Given the description of an element on the screen output the (x, y) to click on. 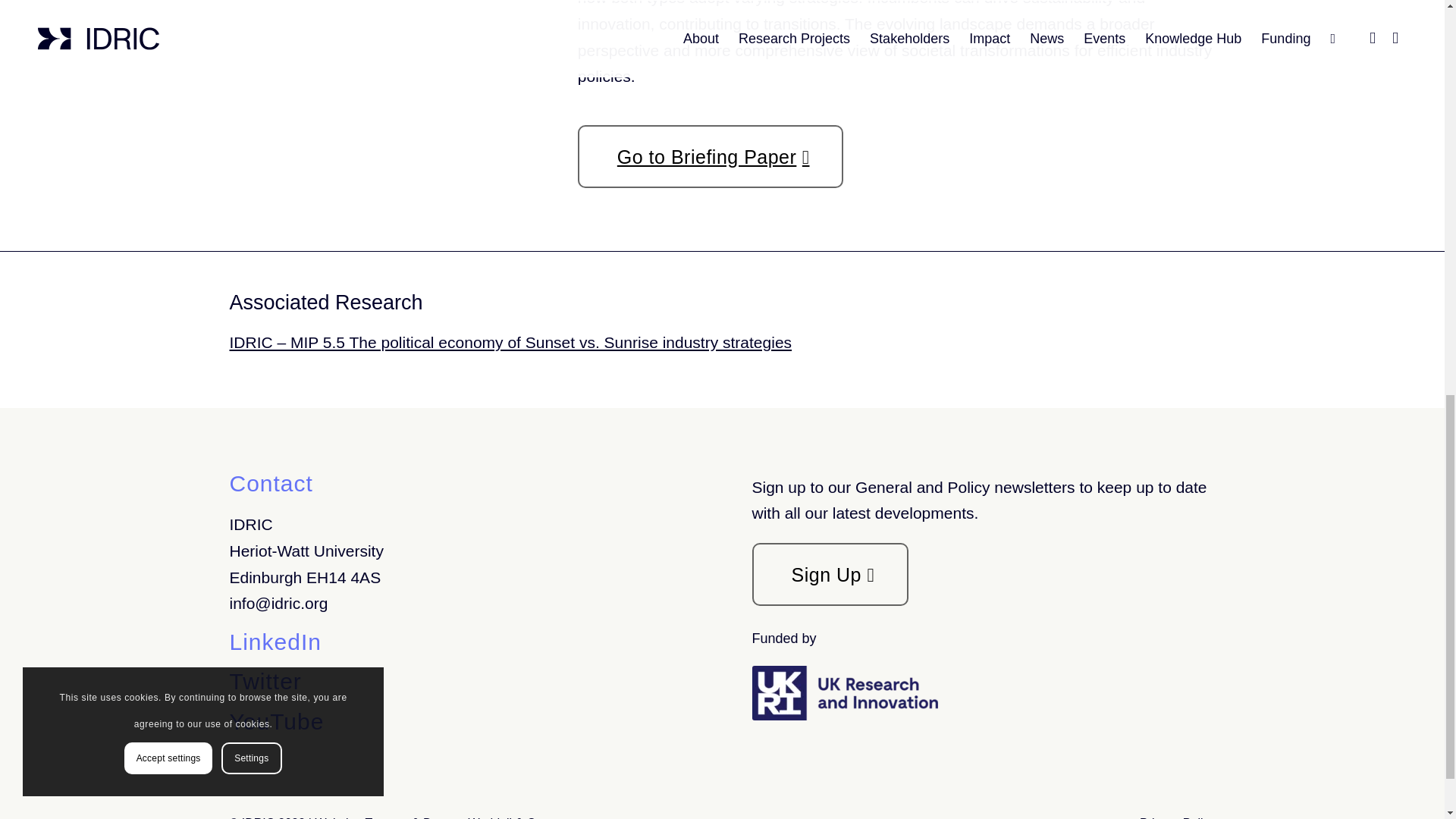
Go to Briefing Paper (710, 156)
